Given the description of an element on the screen output the (x, y) to click on. 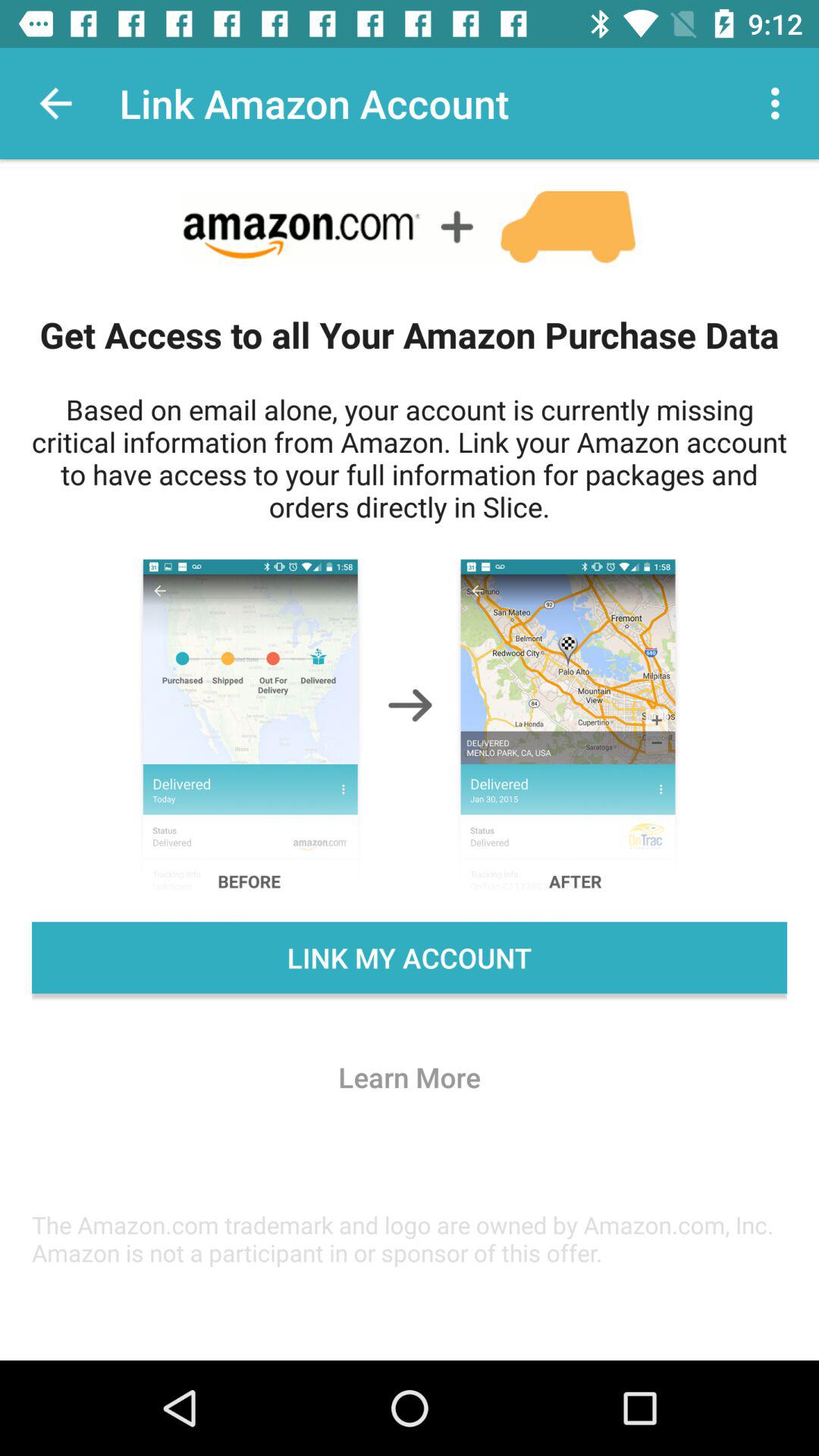
turn on the icon at the top right corner (779, 103)
